Given the description of an element on the screen output the (x, y) to click on. 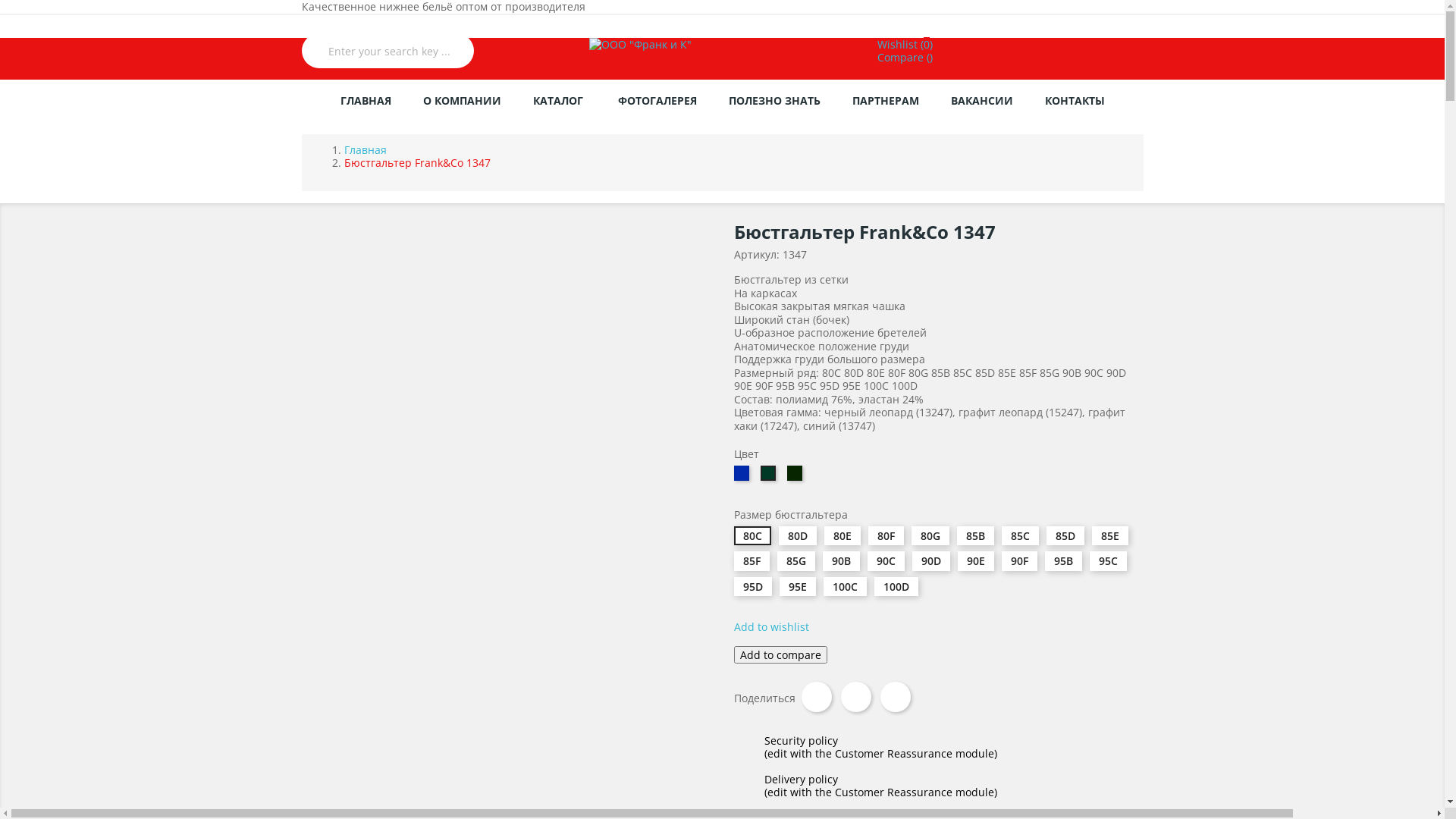
Pinterest Element type: text (894, 696)
Wishlist (0) Element type: text (904, 43)
Compare () Element type: text (904, 57)
Add to wishlist Element type: text (771, 626)
Add to compare Element type: text (780, 655)
